Given the description of an element on the screen output the (x, y) to click on. 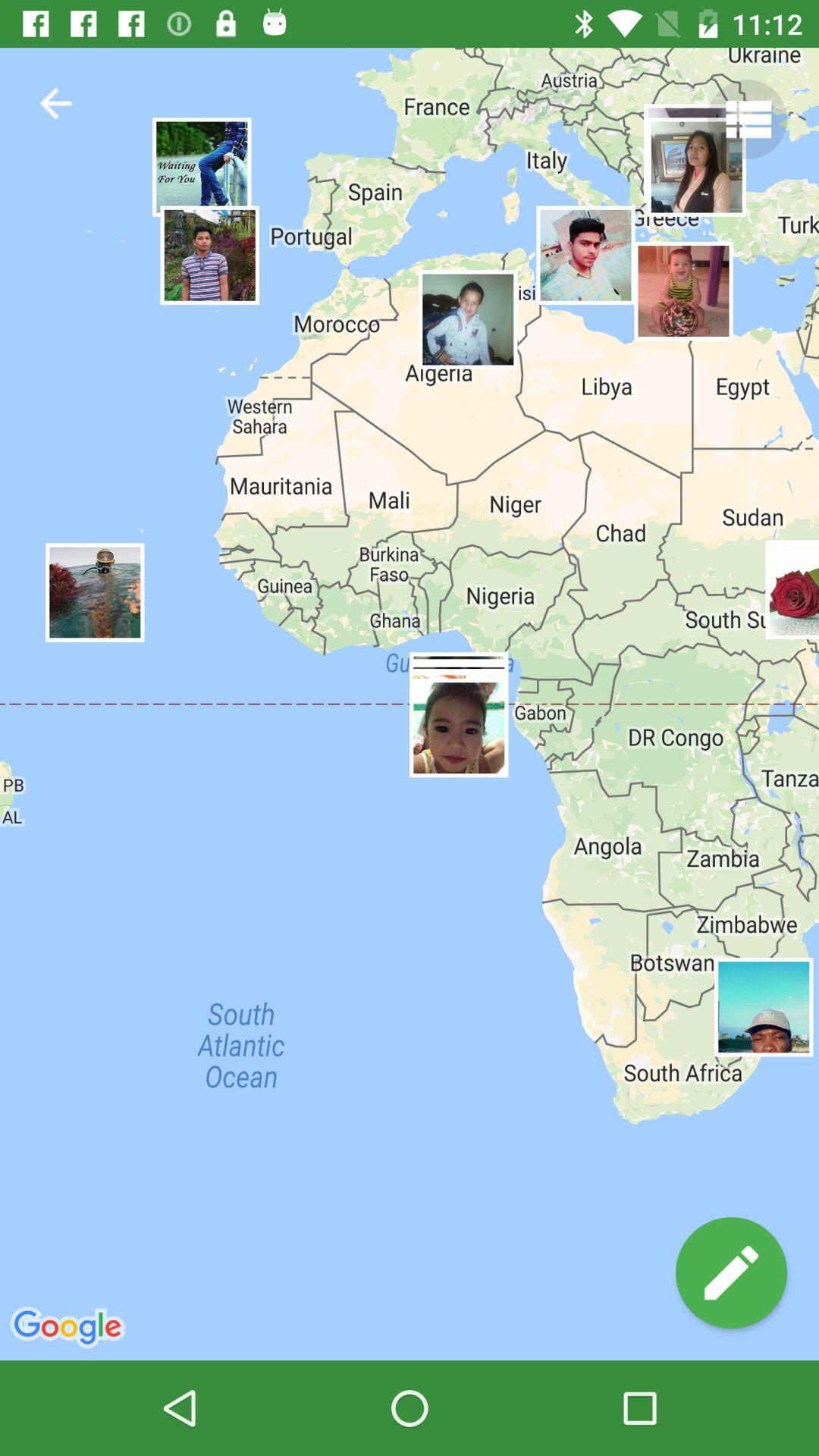
go to settings (747, 119)
